Given the description of an element on the screen output the (x, y) to click on. 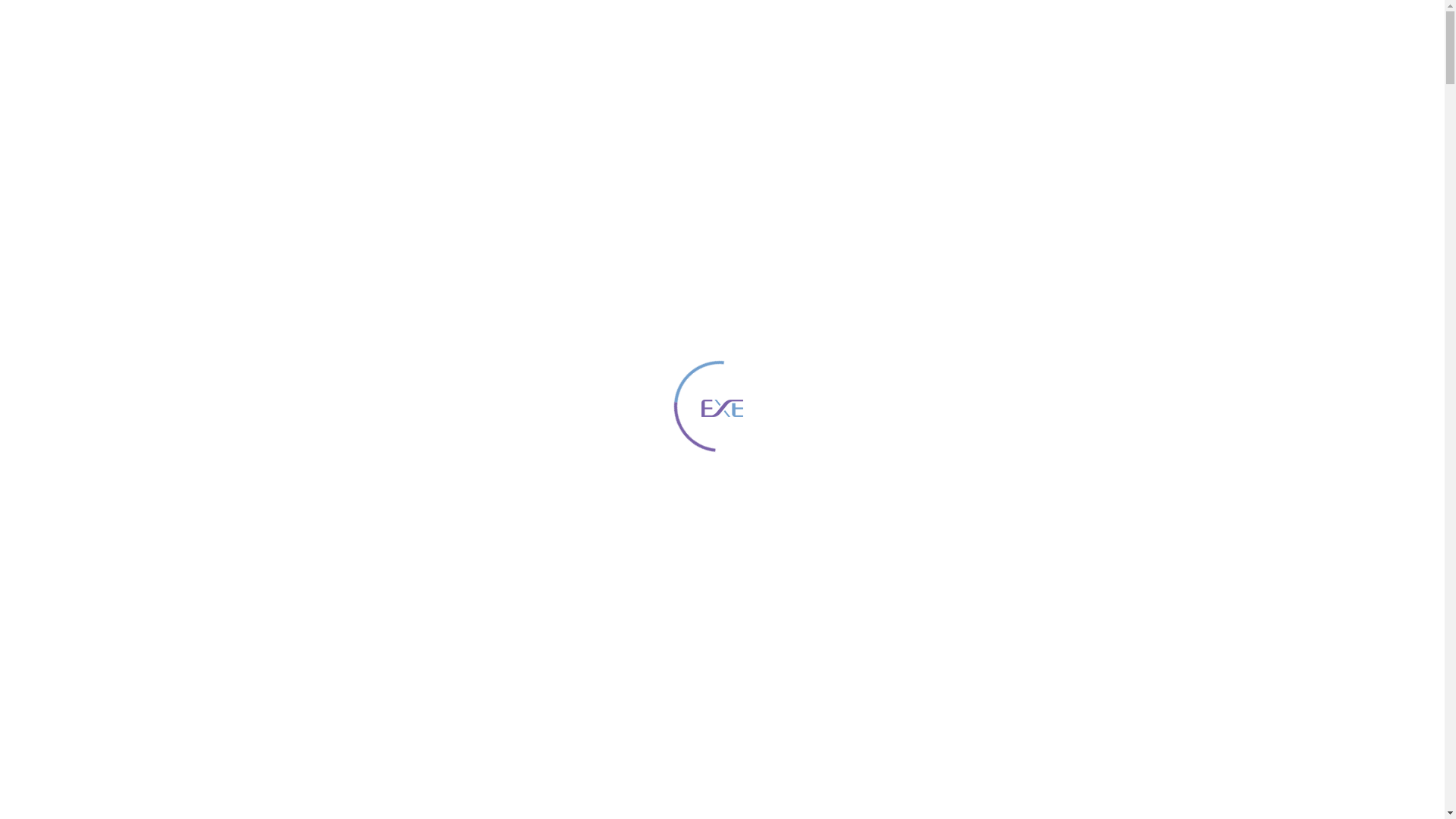
scroll Element type: text (722, 706)
